Given the description of an element on the screen output the (x, y) to click on. 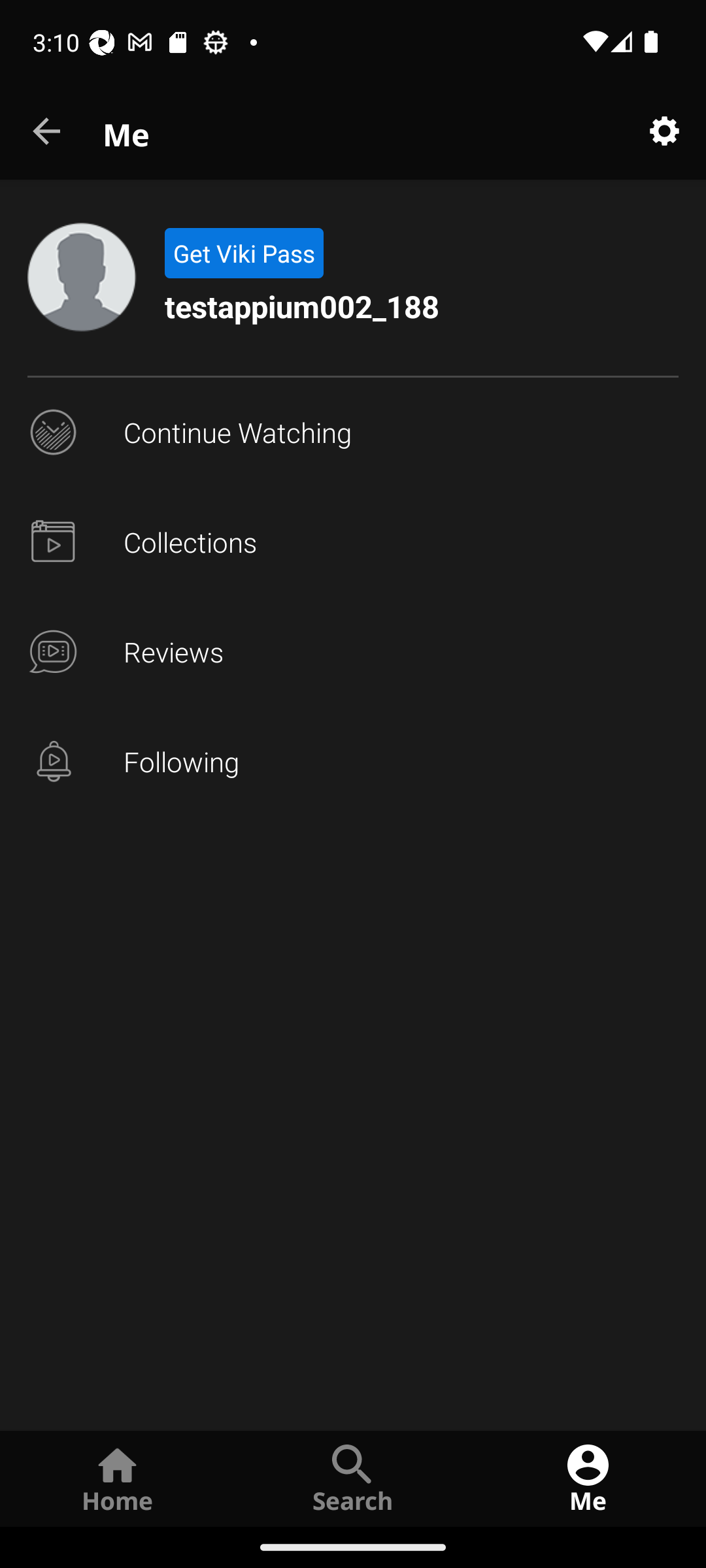
Navigate up (48, 131)
Settings (664, 131)
Get Viki Pass (243, 253)
Continue Watching (353, 432)
profile_page_user_collections Collections (353, 542)
Reviews (353, 652)
Following (353, 761)
Home (117, 1478)
Search (352, 1478)
